Given the description of an element on the screen output the (x, y) to click on. 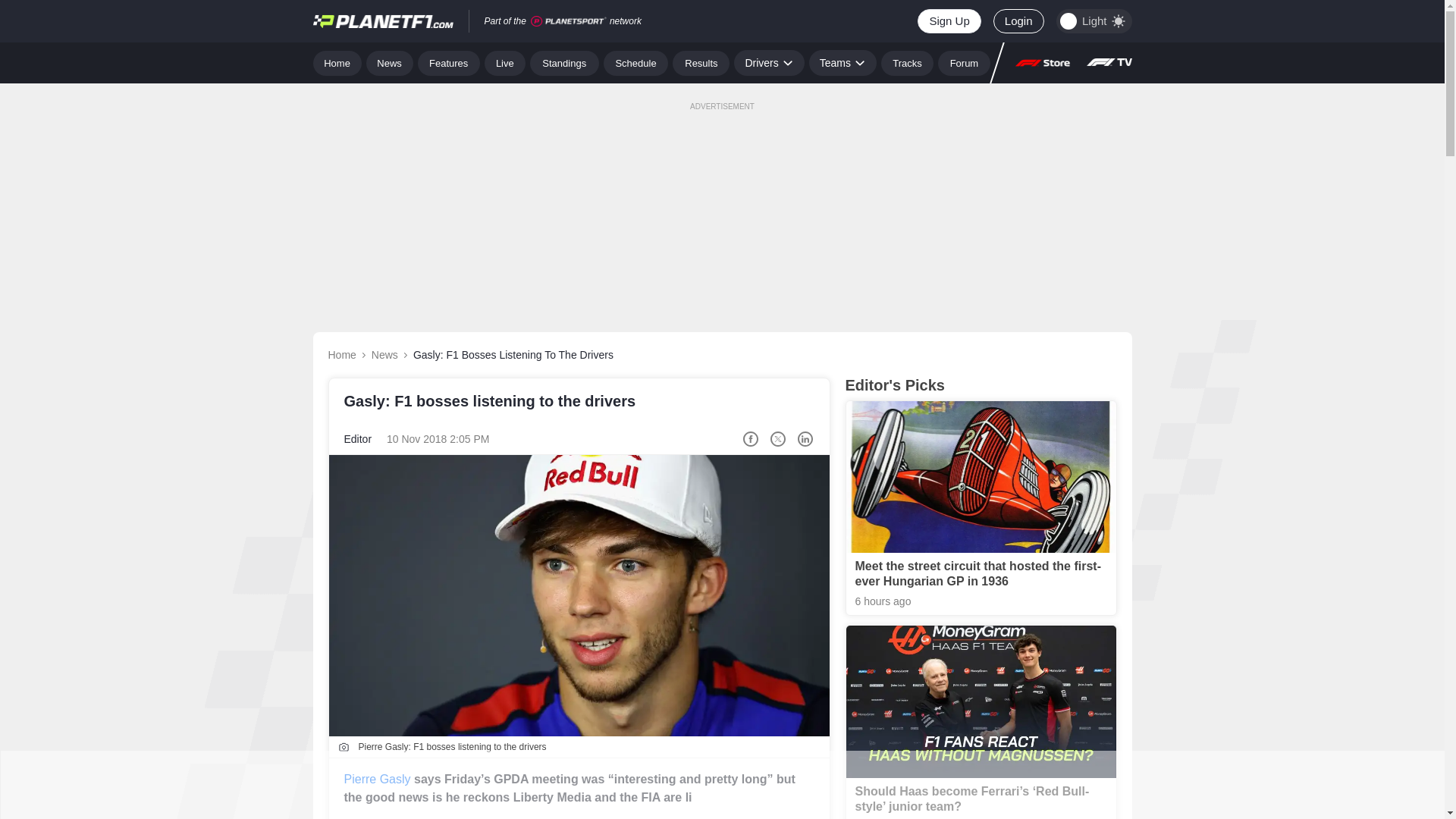
3rd party ad content (721, 203)
Schedule (636, 62)
Drivers (768, 62)
Results (700, 62)
Sign Up (948, 21)
Login (1017, 21)
News (389, 62)
3rd party ad content (721, 785)
Live (504, 62)
Standings (563, 62)
Features (448, 62)
Teams (842, 62)
Home (337, 62)
